Given the description of an element on the screen output the (x, y) to click on. 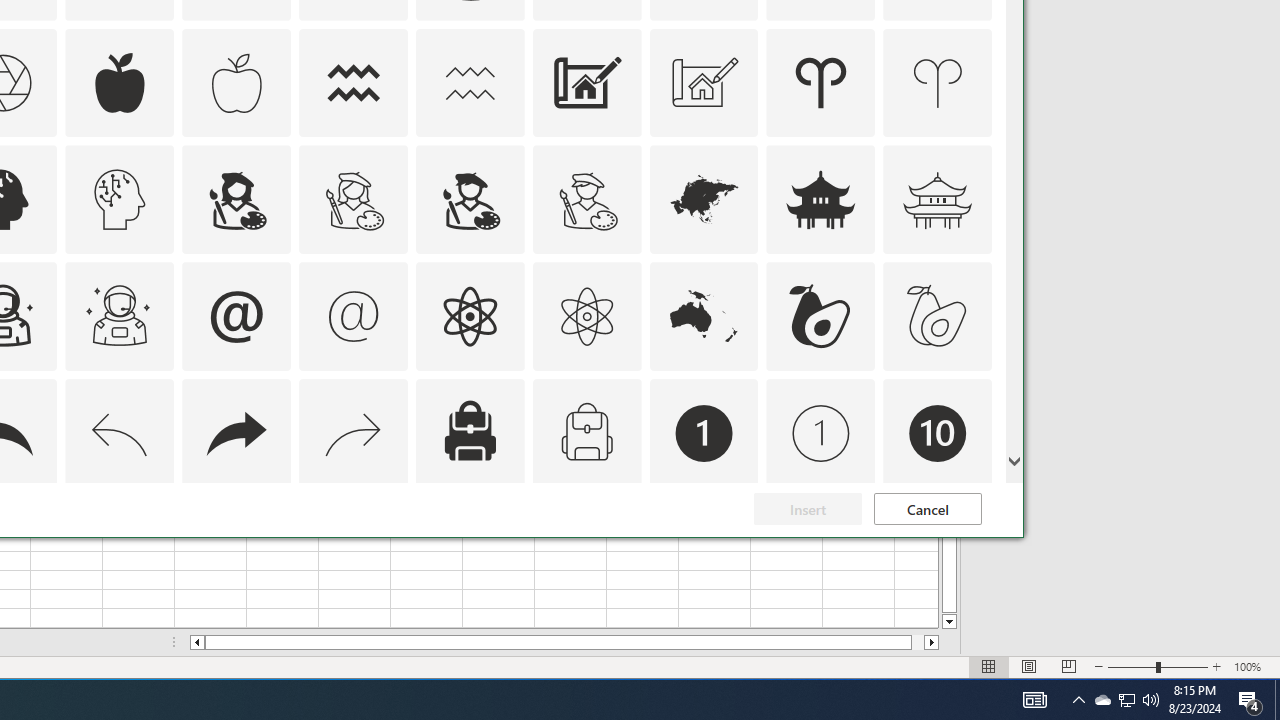
Show desktop (1277, 699)
AutomationID: Icons_Aries (820, 82)
AutomationID: Icons_Australia (703, 316)
AutomationID: Icons_Aquarius_M (469, 82)
AutomationID: Icons_Asia (703, 200)
AutomationID: Icons_Back_RTL (236, 434)
AutomationID: Icons_ArtistMale (469, 200)
AutomationID: Icons_Architecture_M (703, 82)
